Given the description of an element on the screen output the (x, y) to click on. 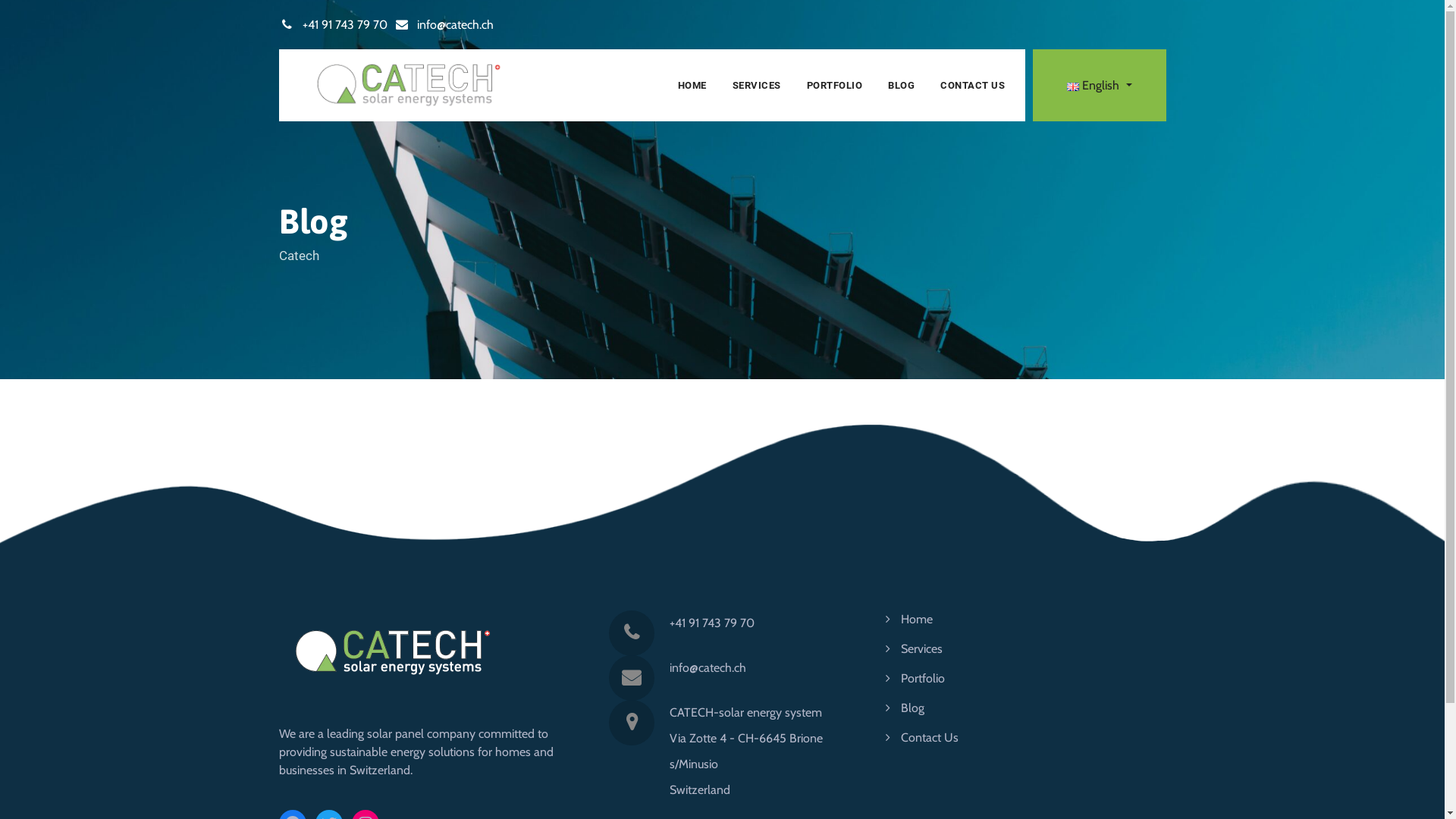
Services Element type: text (913, 648)
SERVICES Element type: text (756, 85)
Catech Element type: hover (408, 85)
Home Element type: text (908, 618)
Portfolio Element type: text (914, 678)
CONTACT US Element type: text (972, 85)
Blog Element type: text (904, 707)
HOME Element type: text (691, 85)
Contact Us Element type: text (921, 737)
English Element type: text (1098, 85)
BLOG Element type: text (901, 85)
PORTFOLIO Element type: text (834, 85)
